Given the description of an element on the screen output the (x, y) to click on. 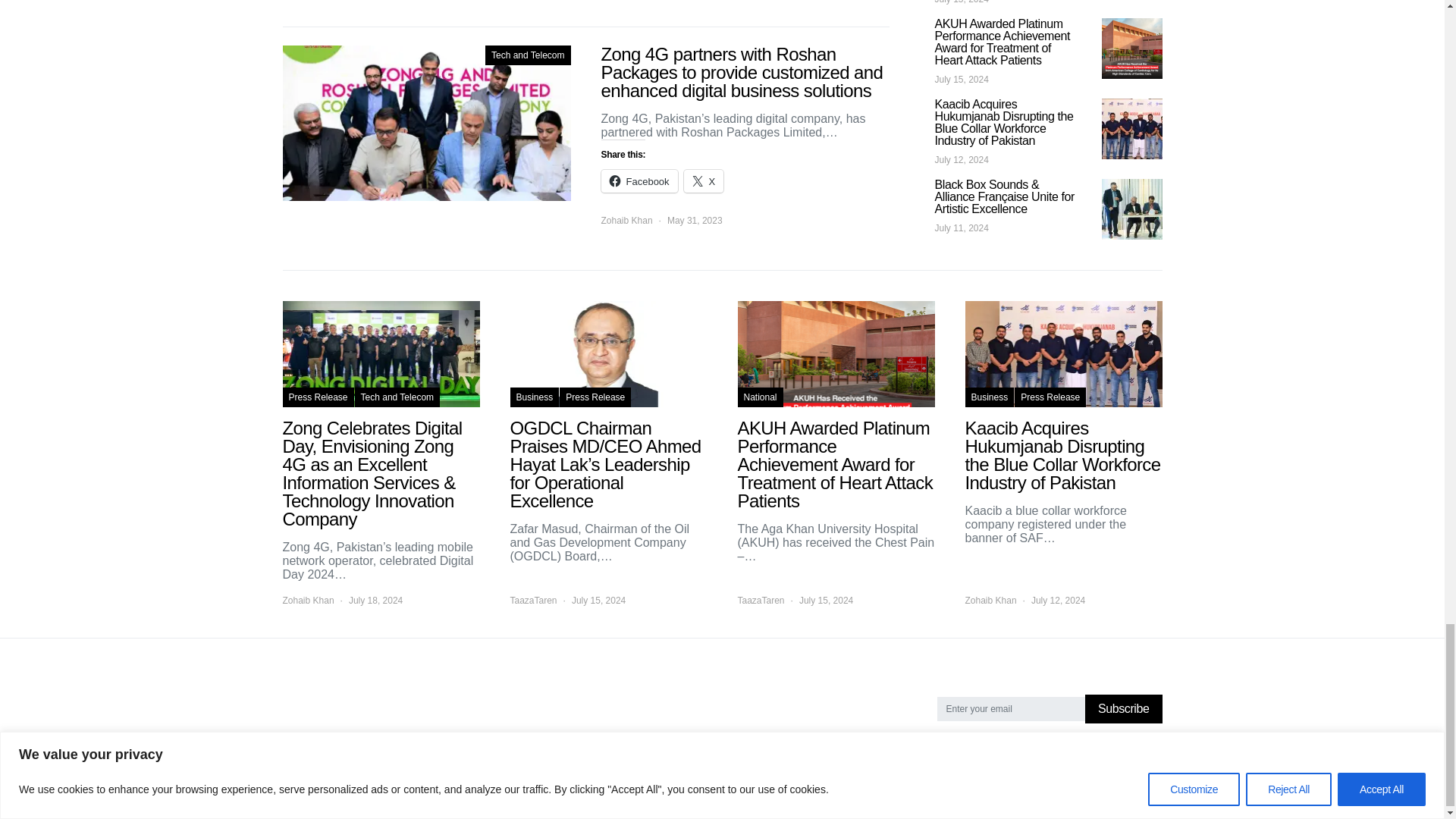
View all posts by Zohaib Khan (307, 600)
on (938, 740)
View all posts by TaazaTaren (532, 600)
Click to share on Facebook (638, 180)
View all posts by Zohaib Khan (625, 220)
Click to share on X (703, 180)
